Given the description of an element on the screen output the (x, y) to click on. 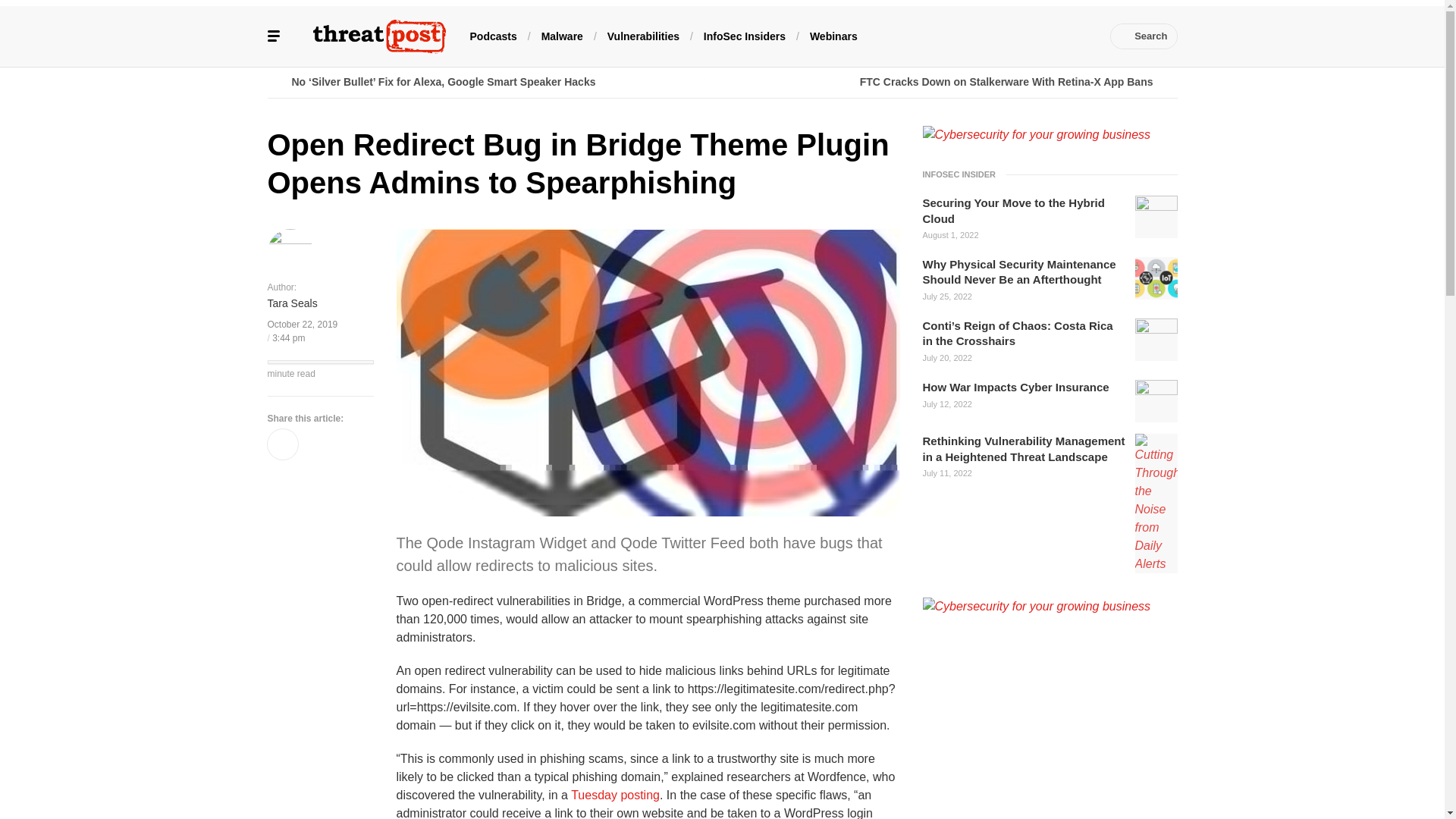
Podcasts (493, 35)
InfoSec Insiders (744, 35)
Instagram (1057, 36)
FTC Cracks Down on Stalkerware With Retina-X App Bans (949, 82)
RSS (1080, 36)
Tara Seals (291, 303)
Feedly (1034, 36)
Search (1143, 36)
YouTube (1012, 36)
Tuesday posting (614, 794)
Securing Your Move to the Hybrid Cloud (1023, 210)
LinkedIn (989, 36)
Twitter (966, 36)
Facebook (944, 36)
